Given the description of an element on the screen output the (x, y) to click on. 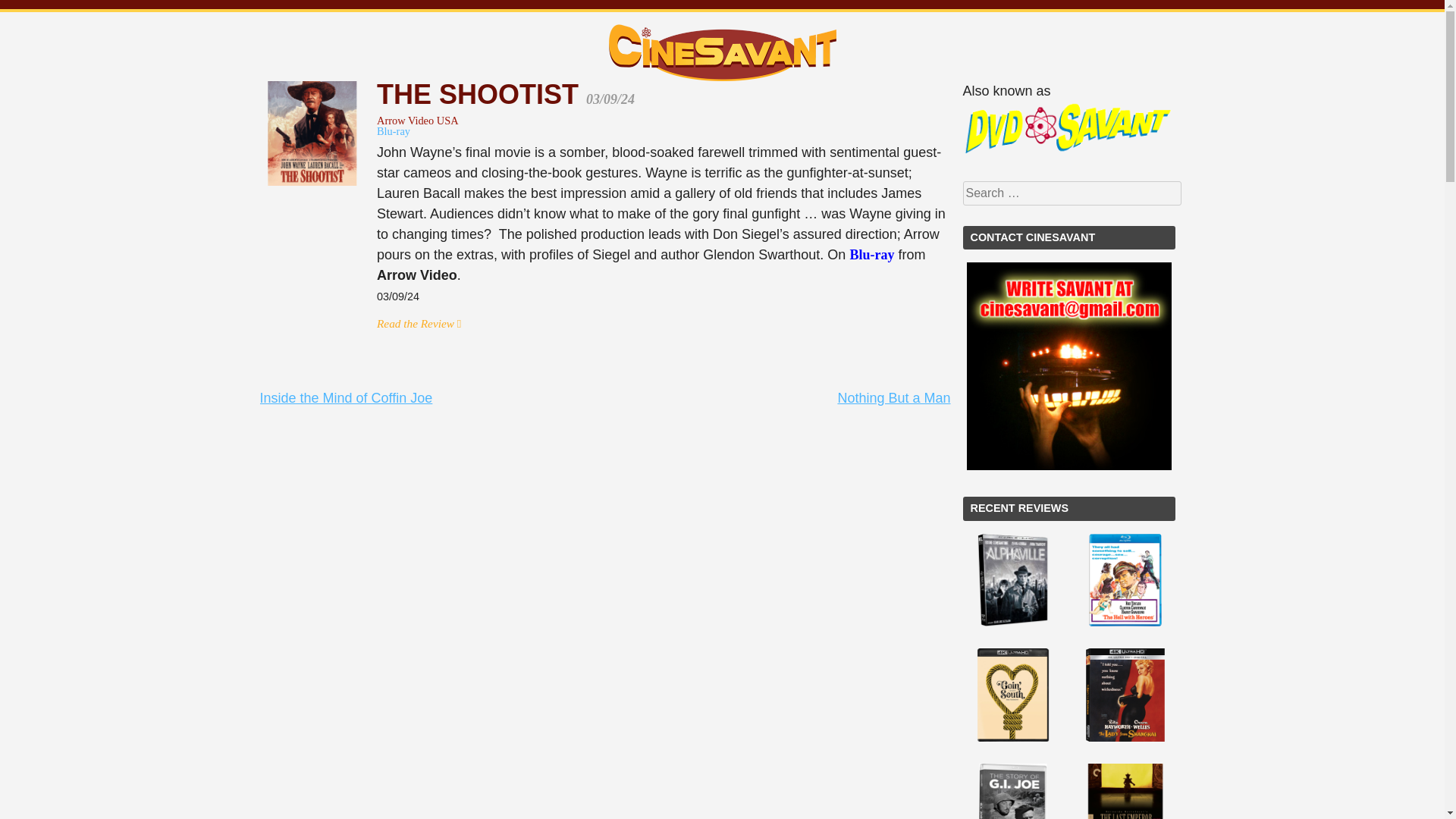
Inside the Mind of Coffin Joe (345, 396)
Nothing But a Man (893, 396)
Read the Review (419, 323)
THE SHOOTIST (481, 93)
Search (24, 9)
